Given the description of an element on the screen output the (x, y) to click on. 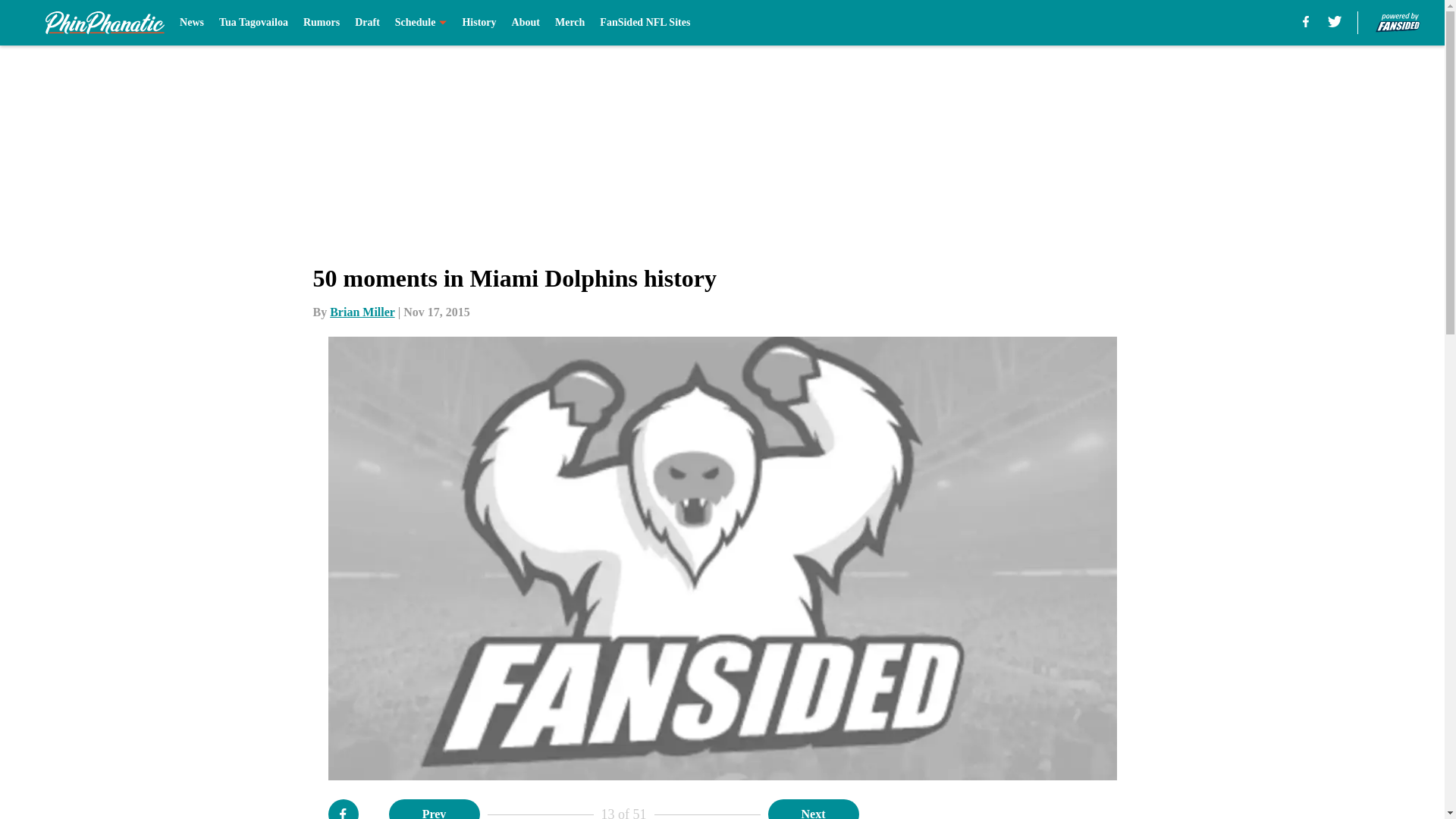
Tua Tagovailoa (253, 22)
About (526, 22)
Brian Miller (362, 311)
Next (813, 809)
Merch (569, 22)
Draft (367, 22)
Rumors (320, 22)
FanSided NFL Sites (644, 22)
History (478, 22)
News (191, 22)
Prev (433, 809)
